Given the description of an element on the screen output the (x, y) to click on. 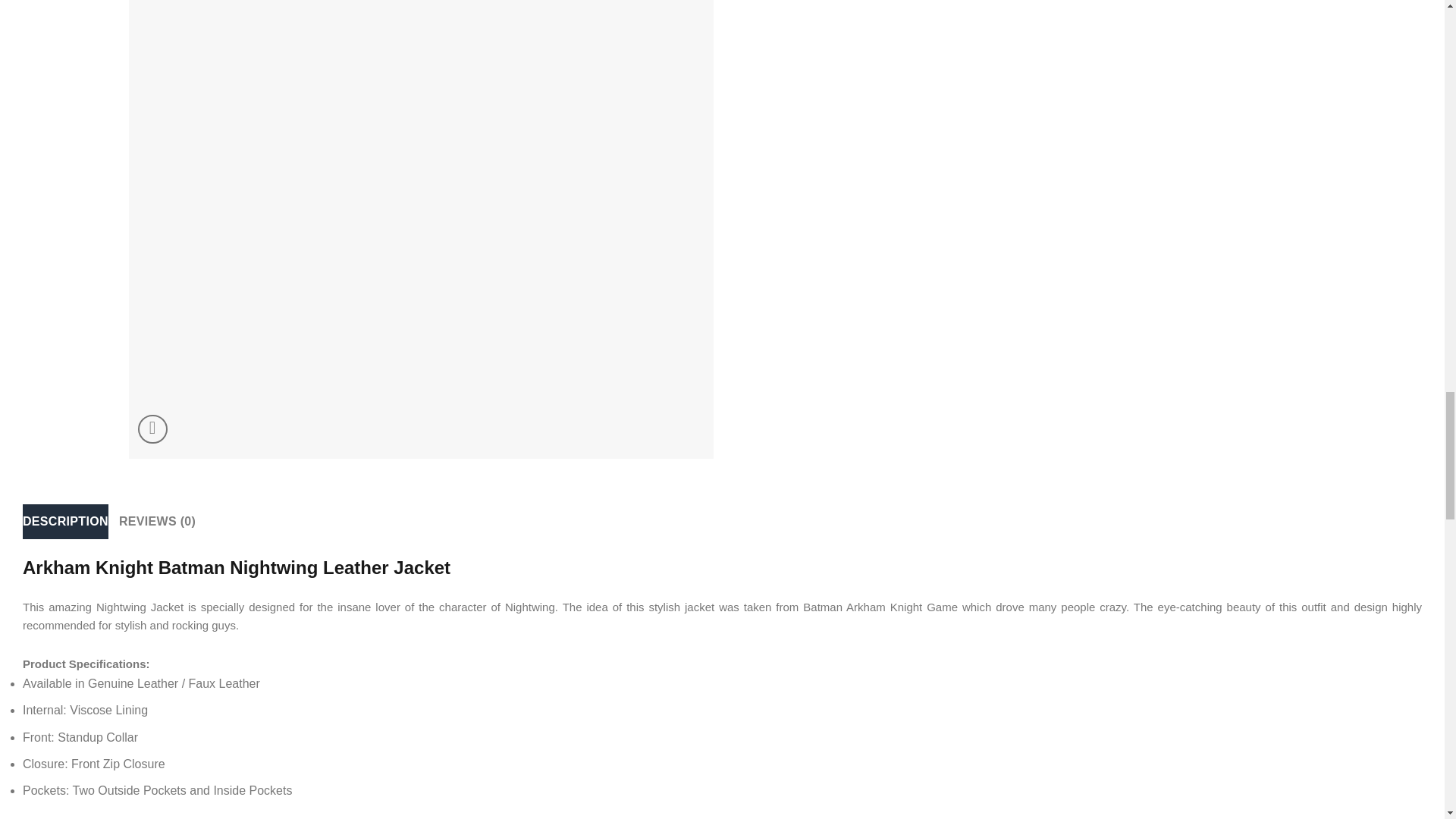
Zoom (152, 429)
